Given the description of an element on the screen output the (x, y) to click on. 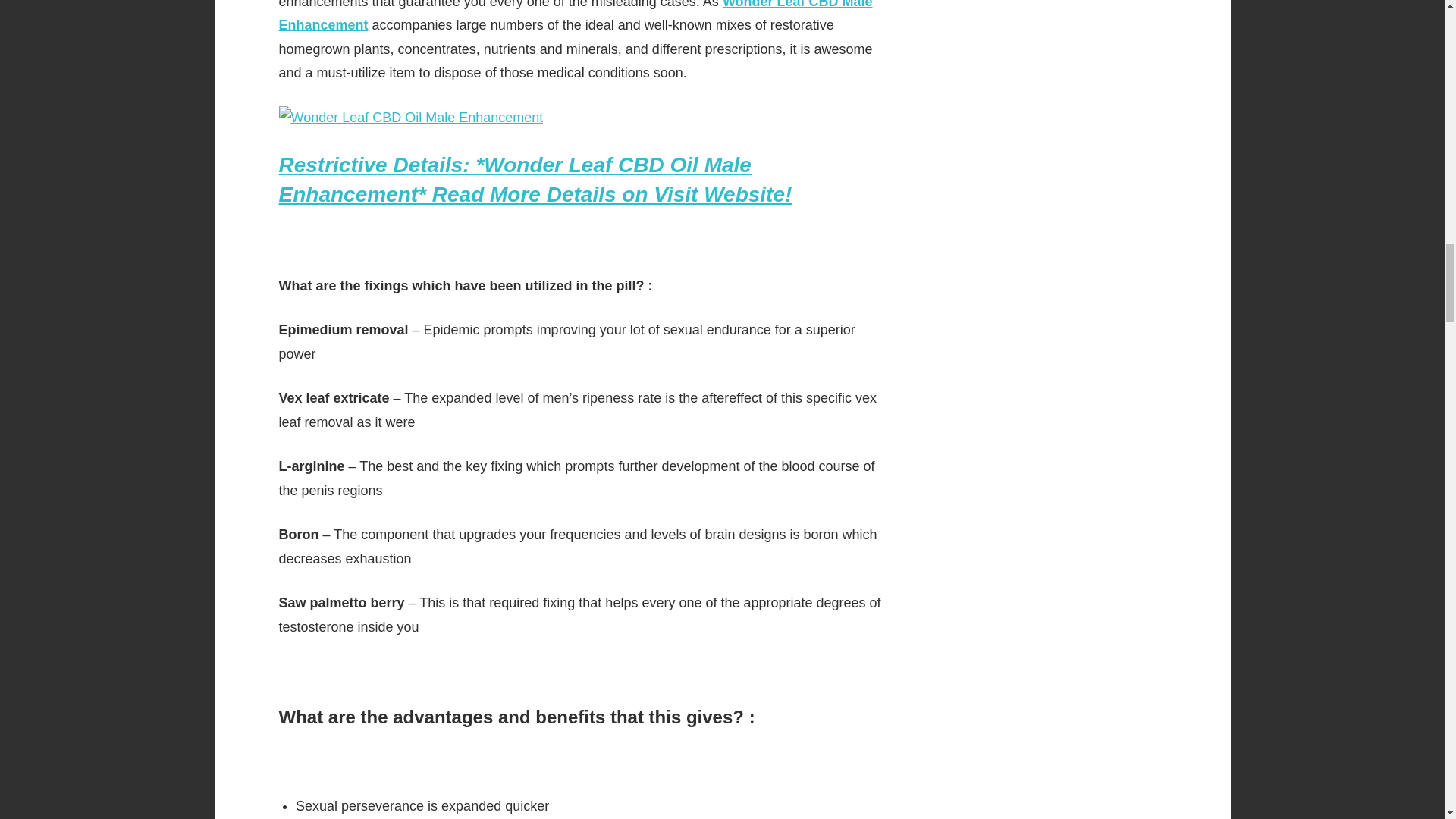
Wonder Leaf CBD Male Enhancement (575, 16)
